Given the description of an element on the screen output the (x, y) to click on. 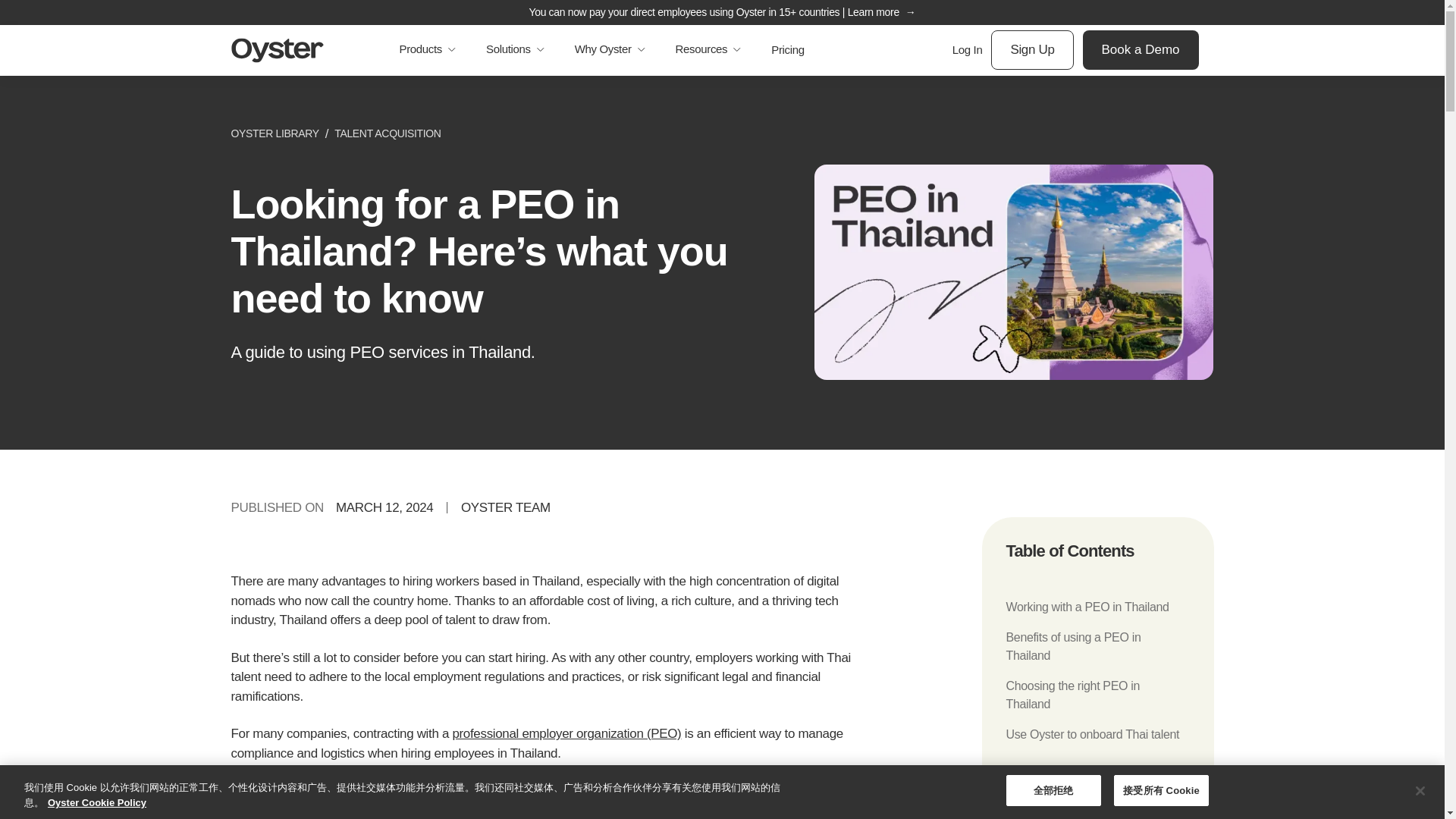
Book a demo (576, 814)
Book a Demo (1140, 49)
TALENT ACQUISITION (387, 133)
Sign Up (1032, 49)
OYSTER LIBRARY (274, 133)
